Given the description of an element on the screen output the (x, y) to click on. 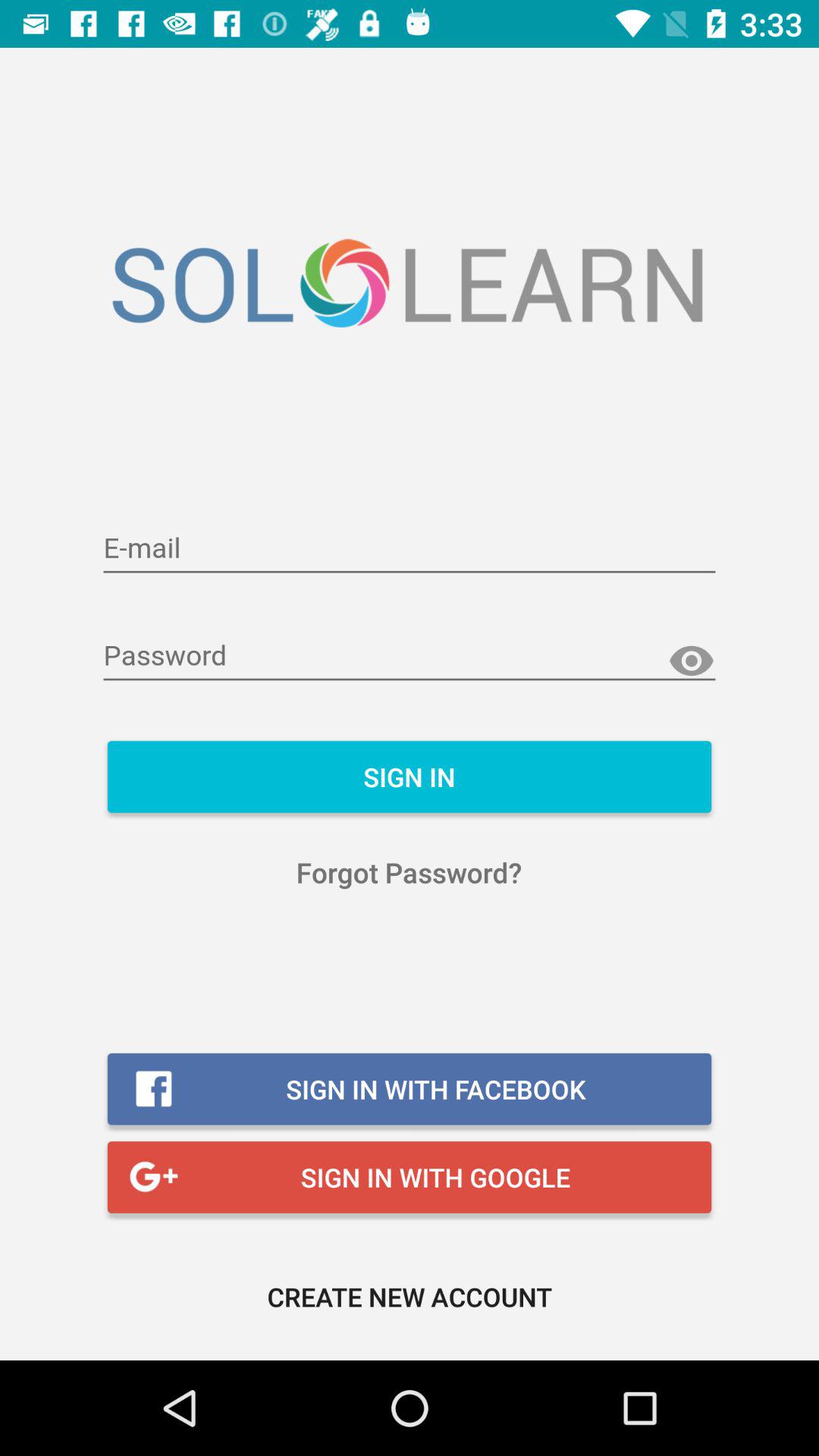
flip to forgot password? icon (409, 872)
